Given the description of an element on the screen output the (x, y) to click on. 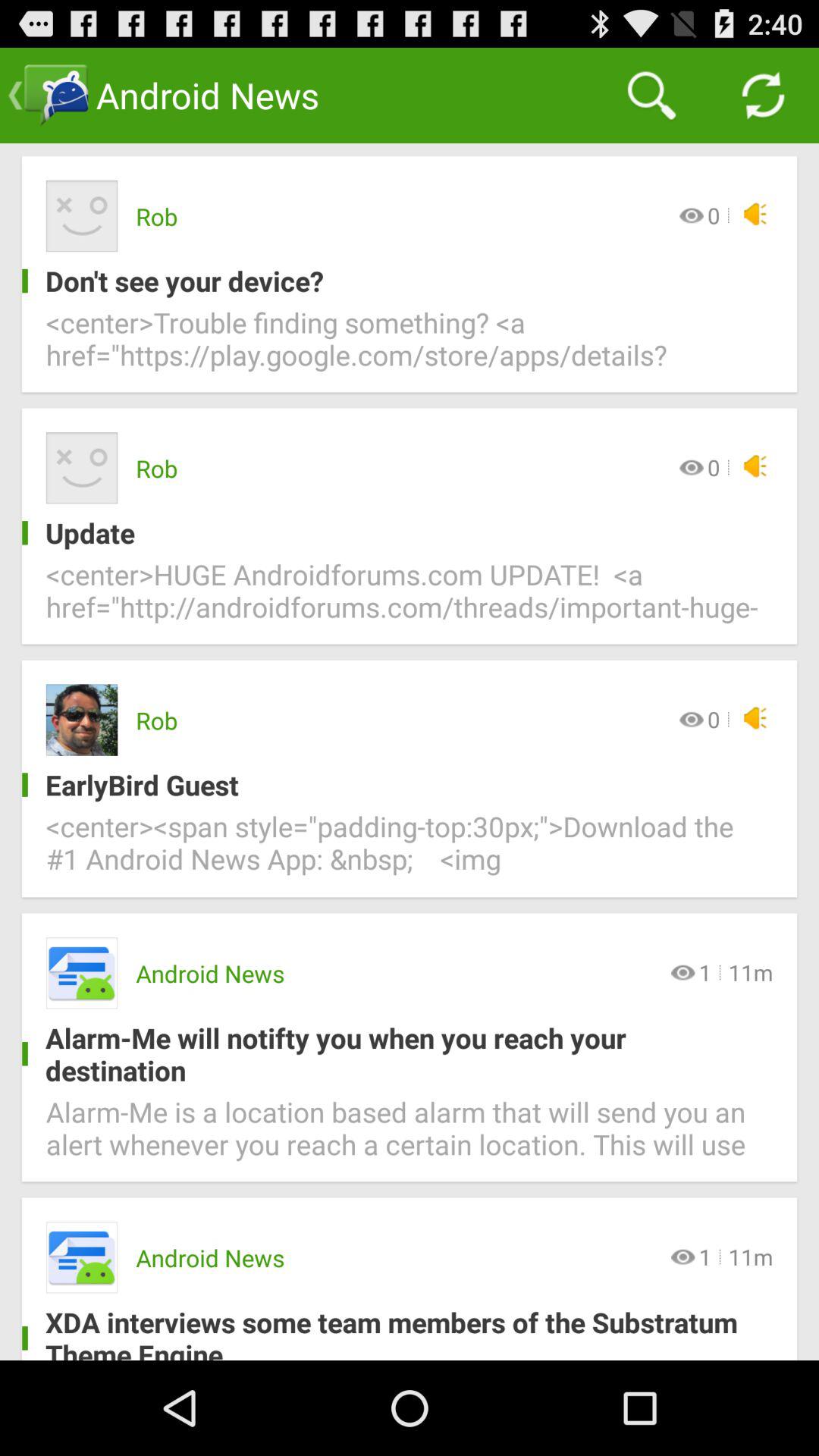
jump to center trouble finding (409, 347)
